Given the description of an element on the screen output the (x, y) to click on. 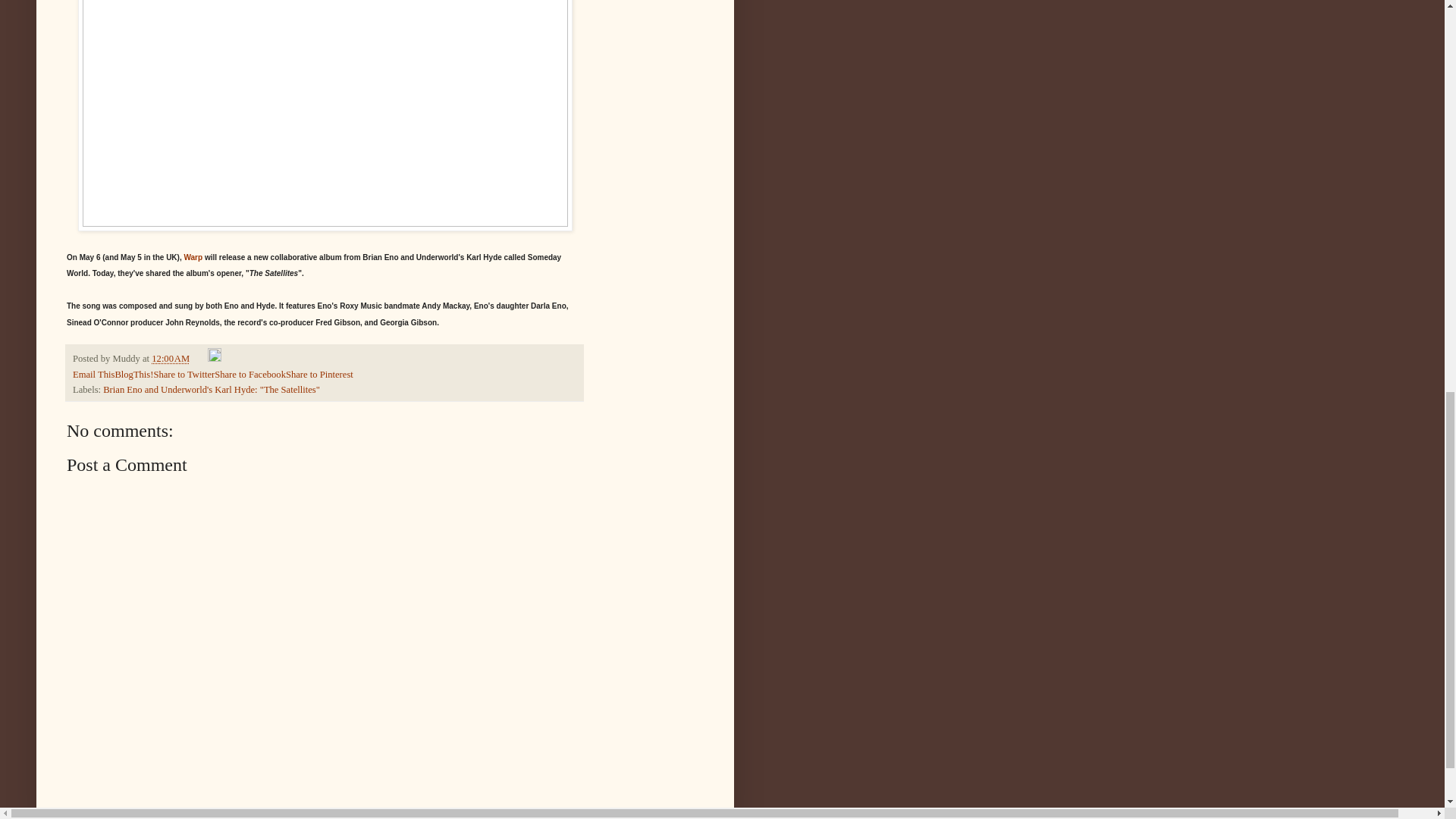
Share to Pinterest (319, 374)
Share to Facebook (249, 374)
BlogThis! (133, 374)
Share to Pinterest (319, 374)
permanent link (170, 357)
Edit Post (214, 357)
Brian Eno and Underworld's Karl Hyde: "The Satellites" (211, 389)
Email This (93, 374)
BlogThis! (133, 374)
Warp (192, 257)
Share to Facebook (249, 374)
Share to Twitter (183, 374)
Share to Twitter (183, 374)
Email This (93, 374)
